Given the description of an element on the screen output the (x, y) to click on. 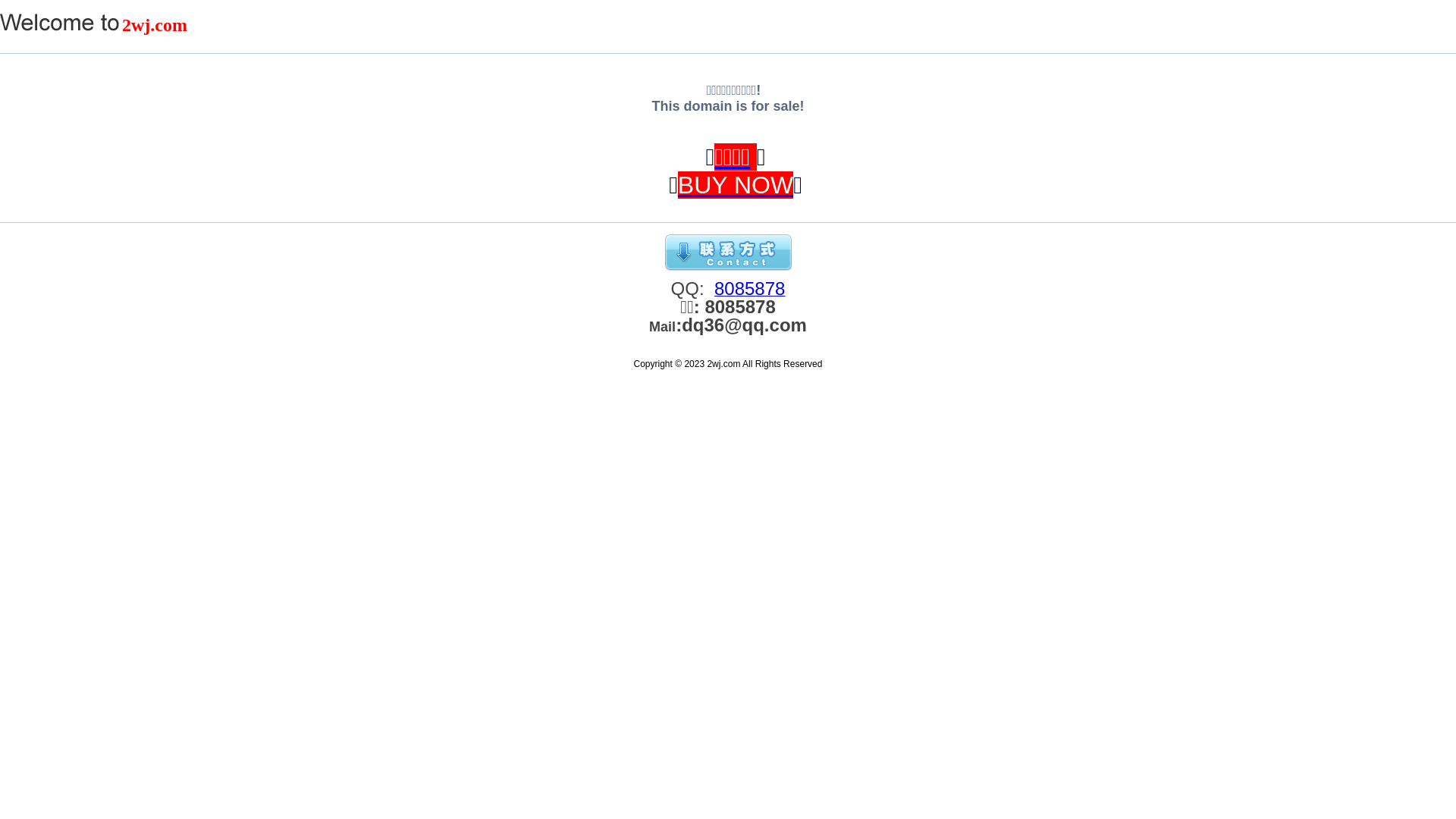
8085878 Element type: text (749, 291)
BUY NOW Element type: text (735, 184)
